Given the description of an element on the screen output the (x, y) to click on. 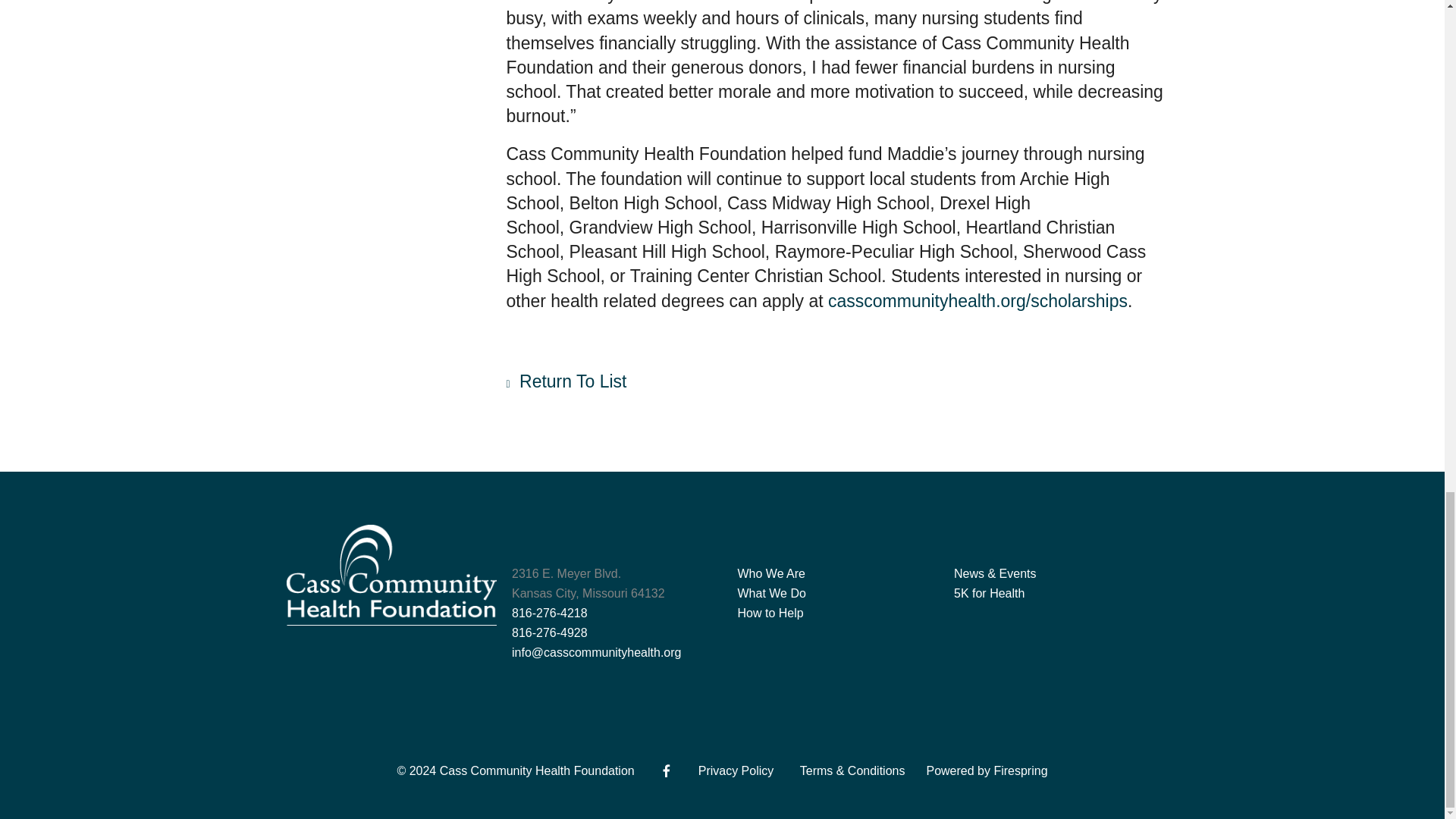
Return To List (566, 381)
Privacy Policy (736, 770)
What We Do (770, 593)
816-276-4218 (550, 612)
5K for Health (989, 593)
logo (391, 574)
816-276-4928 (550, 632)
Who We Are (770, 573)
Firespring (1019, 770)
How to Help (769, 612)
